Given the description of an element on the screen output the (x, y) to click on. 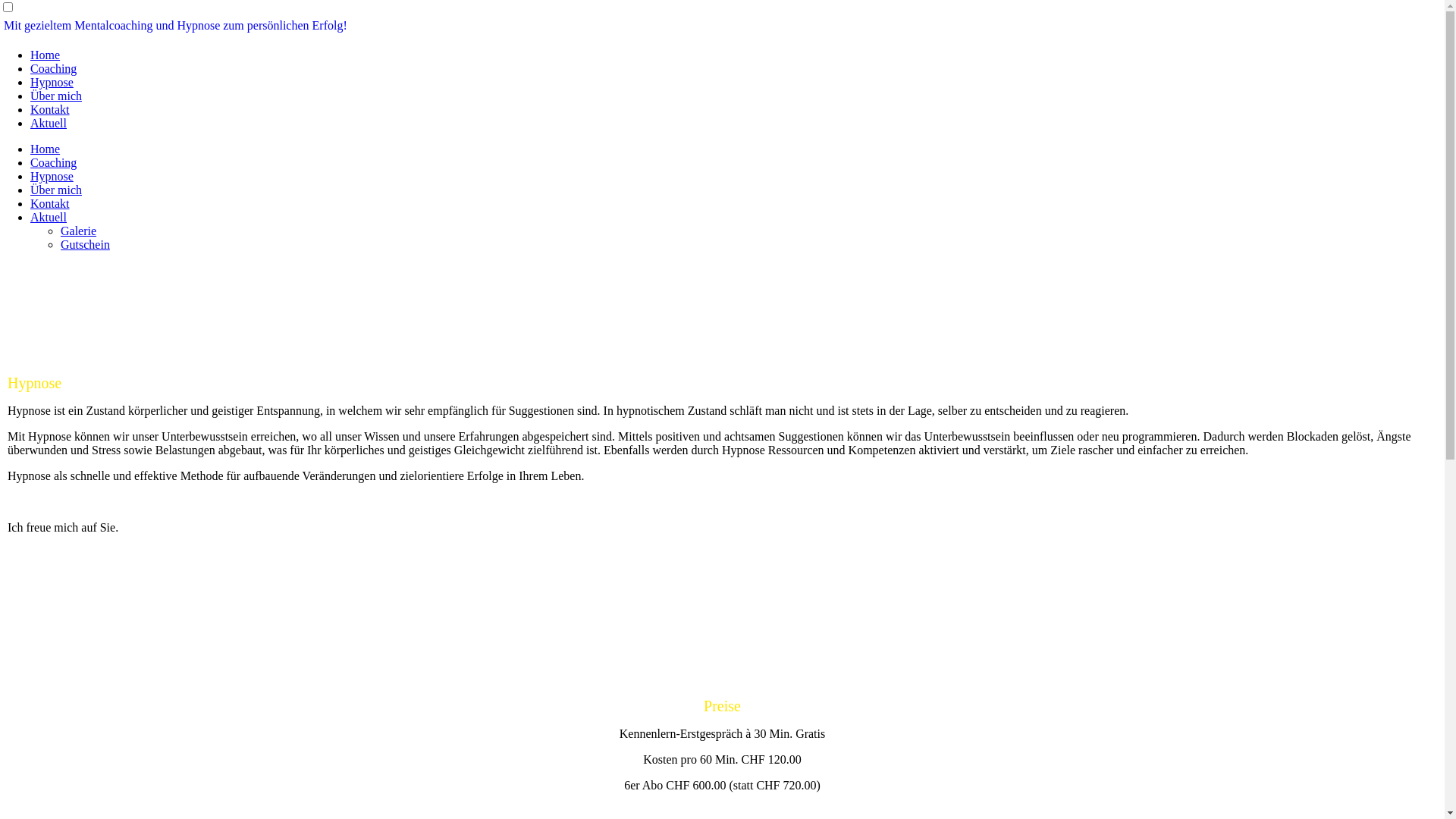
Aktuell Element type: text (48, 216)
Home Element type: text (44, 148)
Hypnose Element type: text (51, 175)
Home Element type: text (44, 54)
Kontakt Element type: text (49, 109)
Coaching Element type: text (53, 68)
Aktuell Element type: text (48, 122)
Galerie Element type: text (78, 230)
Kontakt Element type: text (49, 203)
Gutschein Element type: text (84, 244)
Coaching Element type: text (53, 162)
Hypnose Element type: text (51, 81)
